Given the description of an element on the screen output the (x, y) to click on. 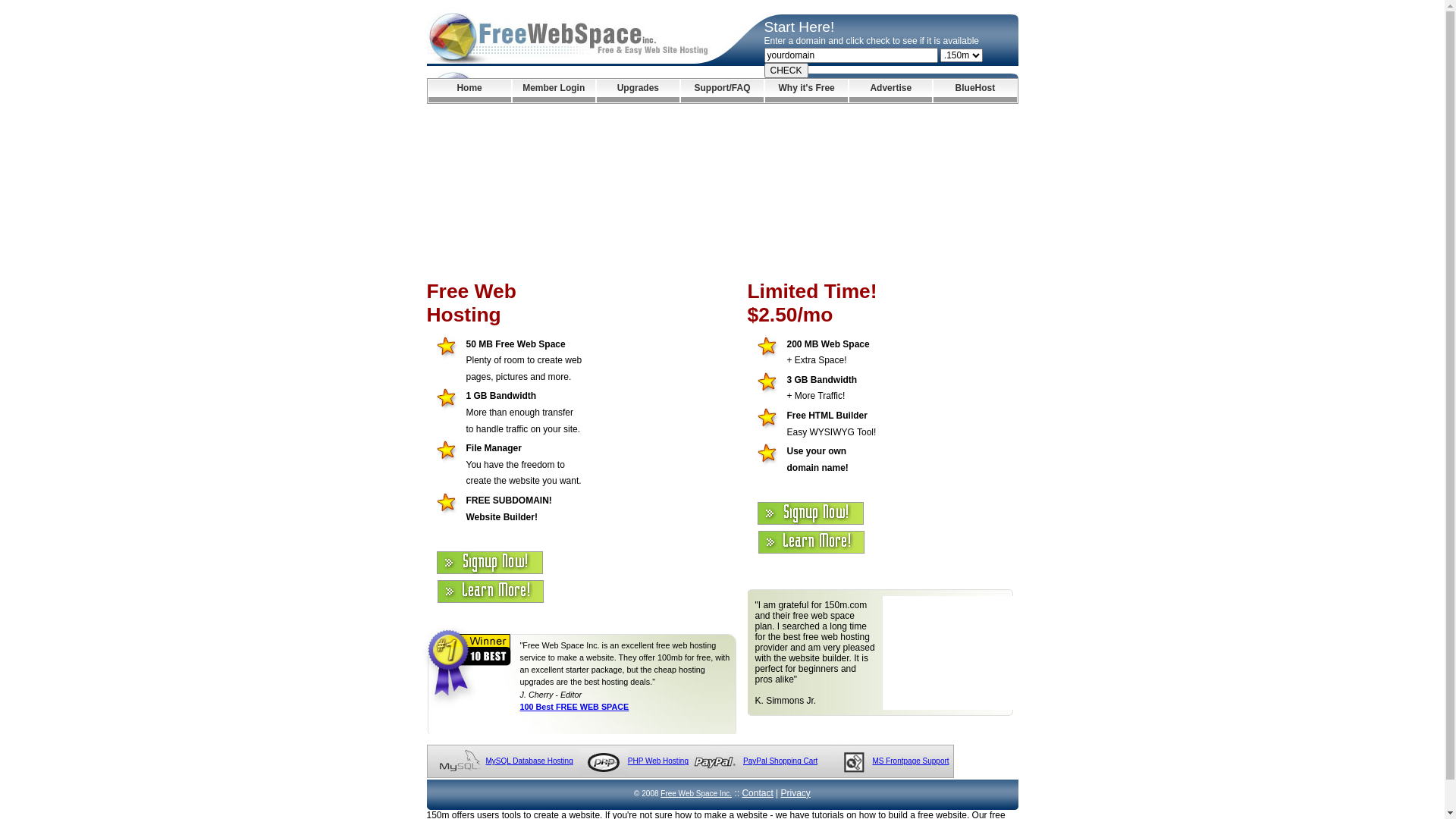
Member Login Element type: text (553, 90)
BlueHost Element type: text (974, 90)
Privacy Element type: text (795, 792)
Upgrades Element type: text (637, 90)
Advertise Element type: text (890, 90)
PayPal Shopping Cart Element type: text (780, 760)
Free Web Space Inc. Element type: text (695, 793)
PHP Web Hosting Element type: text (657, 760)
MS Frontpage Support Element type: text (910, 760)
MySQL Database Hosting Element type: text (528, 760)
Why it's Free Element type: text (806, 90)
Home Element type: text (468, 90)
Contact Element type: text (756, 792)
100 Best FREE WEB SPACE Element type: text (574, 706)
Support/FAQ Element type: text (721, 90)
CHECK Element type: text (786, 70)
